Given the description of an element on the screen output the (x, y) to click on. 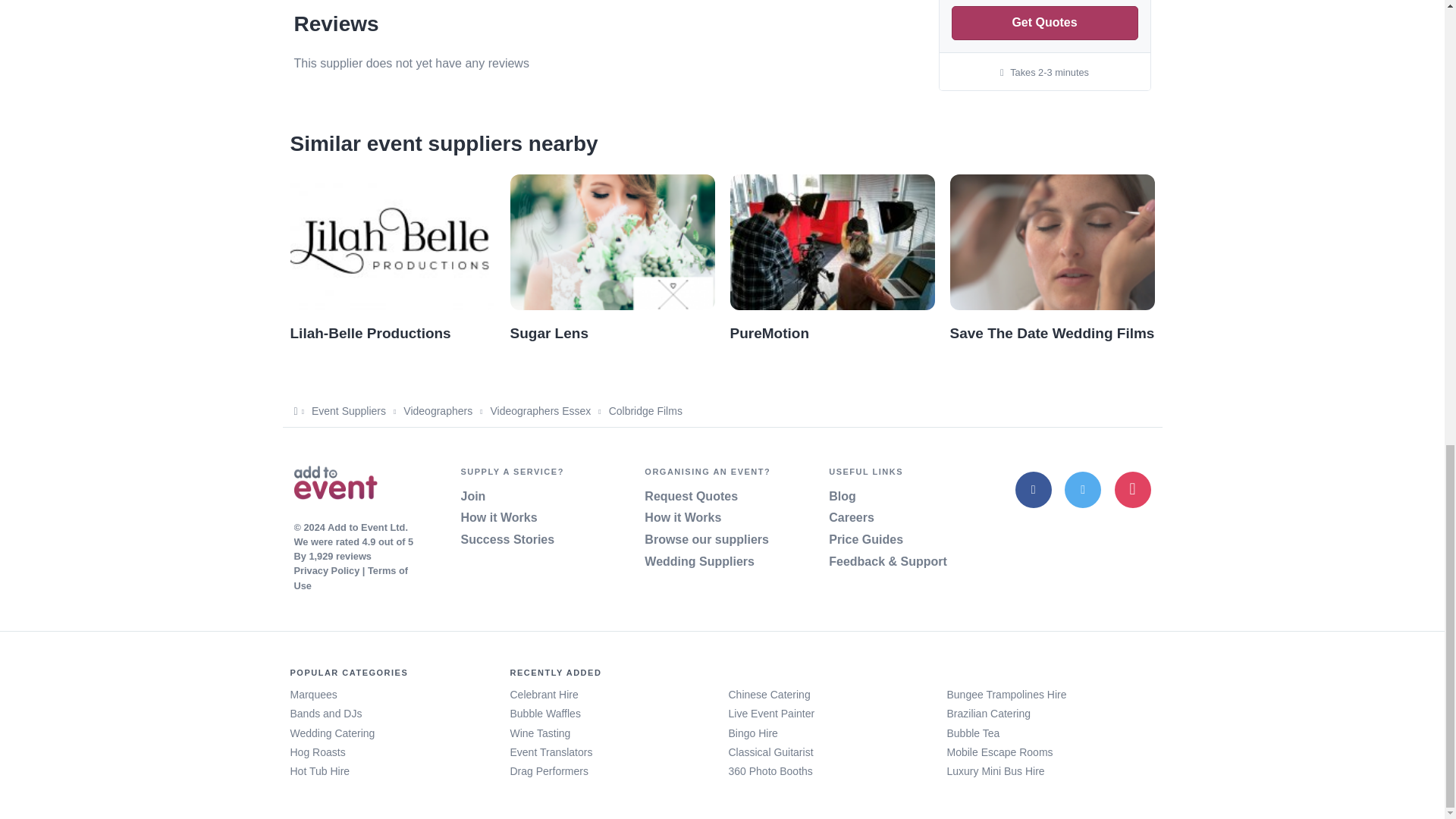
Event Suppliers (348, 410)
Videographers Essex (540, 410)
Lilah-Belle Productions (369, 333)
Save The Date Wedding Films (1051, 333)
Sugar Lens (548, 333)
Videographers (437, 410)
Home (335, 485)
PureMotion (769, 333)
